Given the description of an element on the screen output the (x, y) to click on. 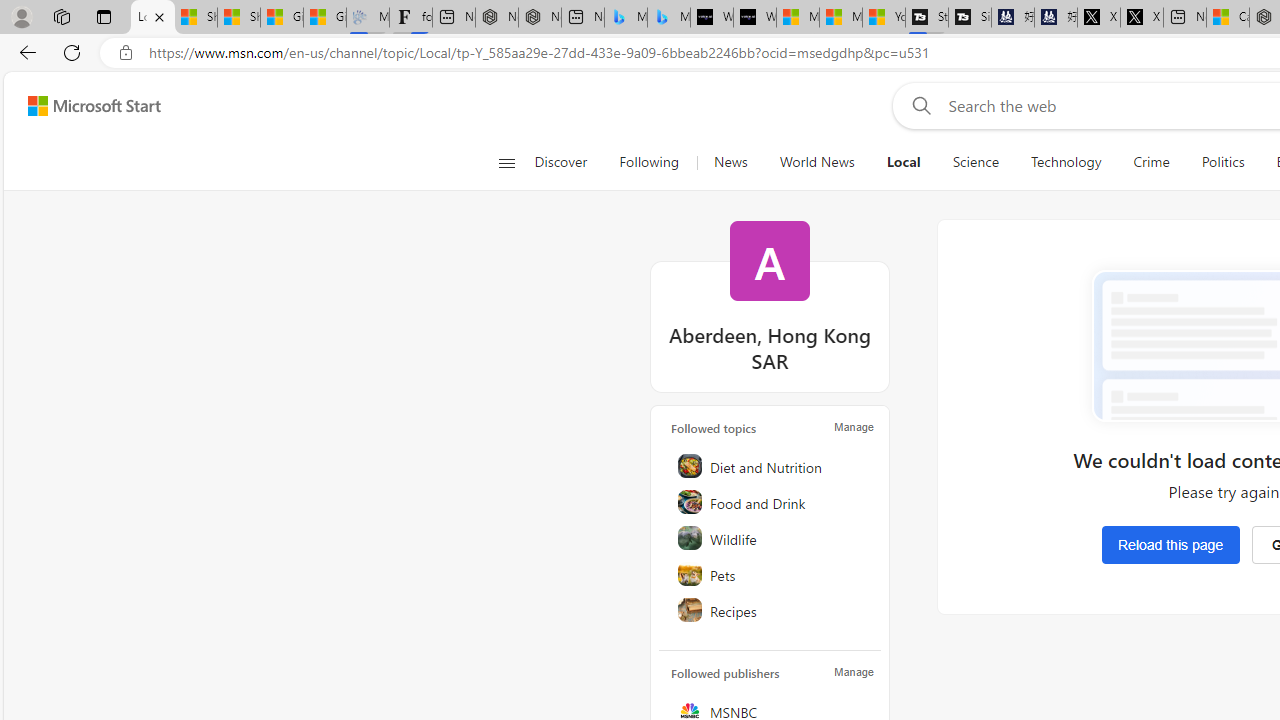
Pets (771, 573)
Class: button-glyph (505, 162)
World News (817, 162)
Wildlife (771, 537)
Technology (1066, 162)
